Given the description of an element on the screen output the (x, y) to click on. 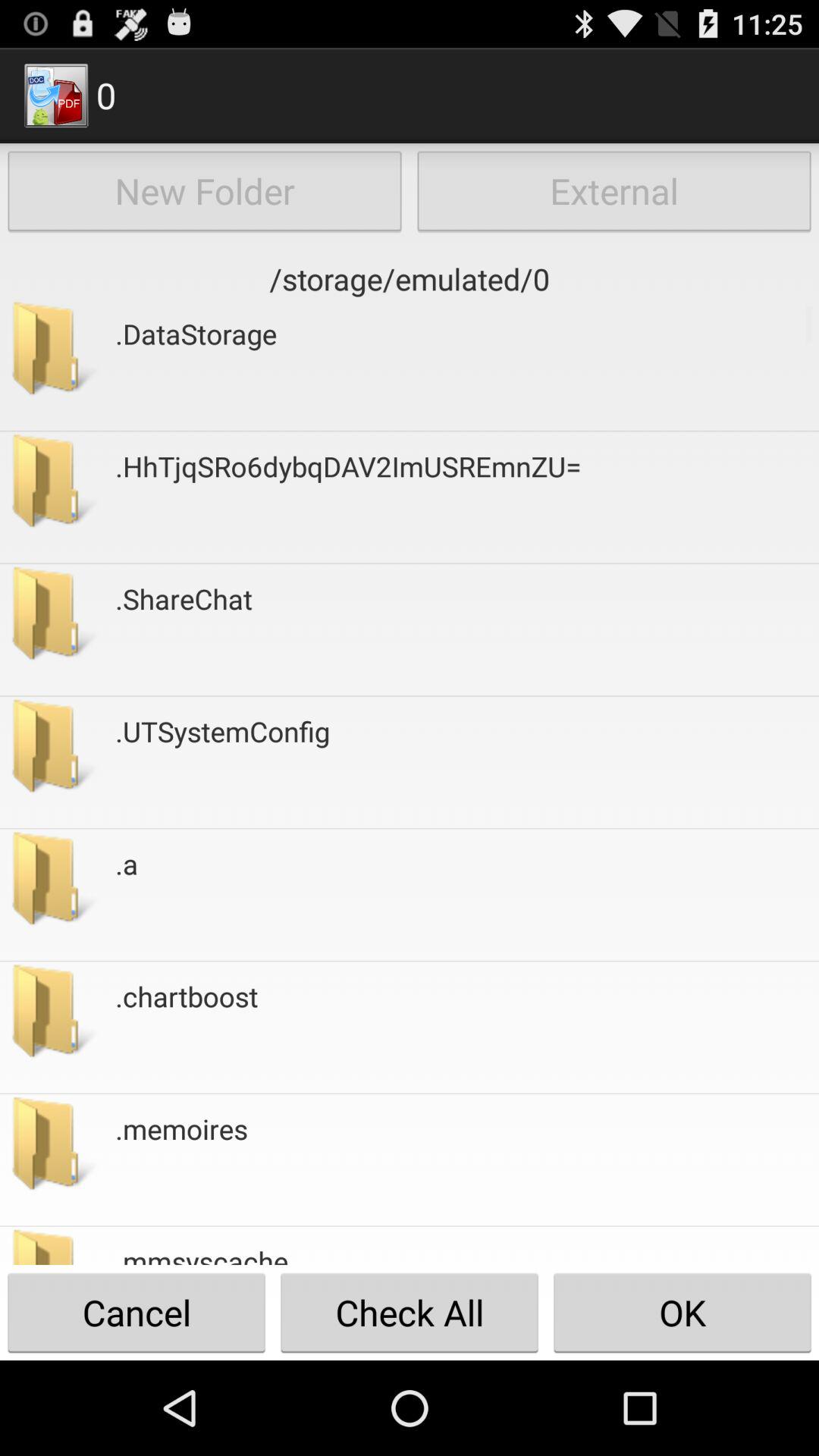
turn on the check all button (409, 1312)
